Given the description of an element on the screen output the (x, y) to click on. 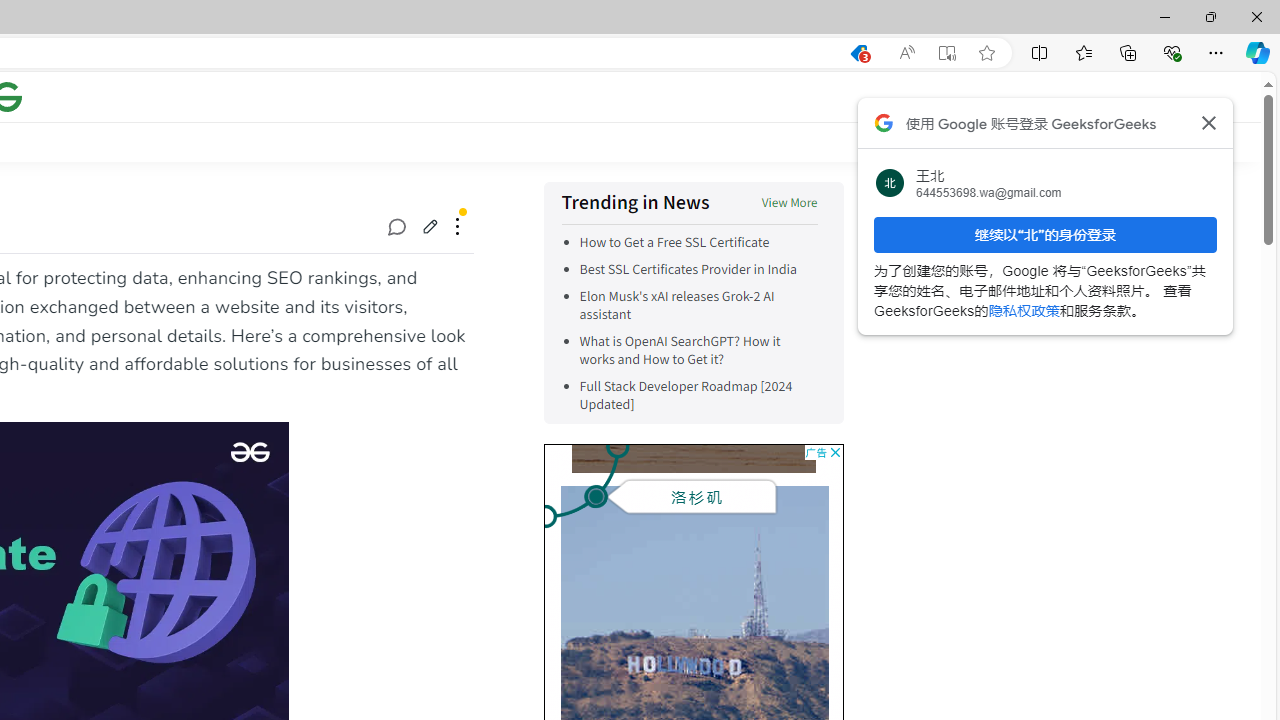
View More (789, 203)
Full Stack Developer Roadmap [2024 Updated] (685, 395)
Best SSL Certificates Provider in India (687, 269)
Full Stack Developer Roadmap [2024 Updated] (697, 395)
Best SSL Certificates Provider in India (697, 269)
Elon Musk's xAI releases Grok-2 AI assistant (676, 305)
Elon Musk's xAI releases Grok-2 AI assistant (697, 306)
What is OpenAI SearchGPT? How it works and How to Get it? (697, 350)
